Given the description of an element on the screen output the (x, y) to click on. 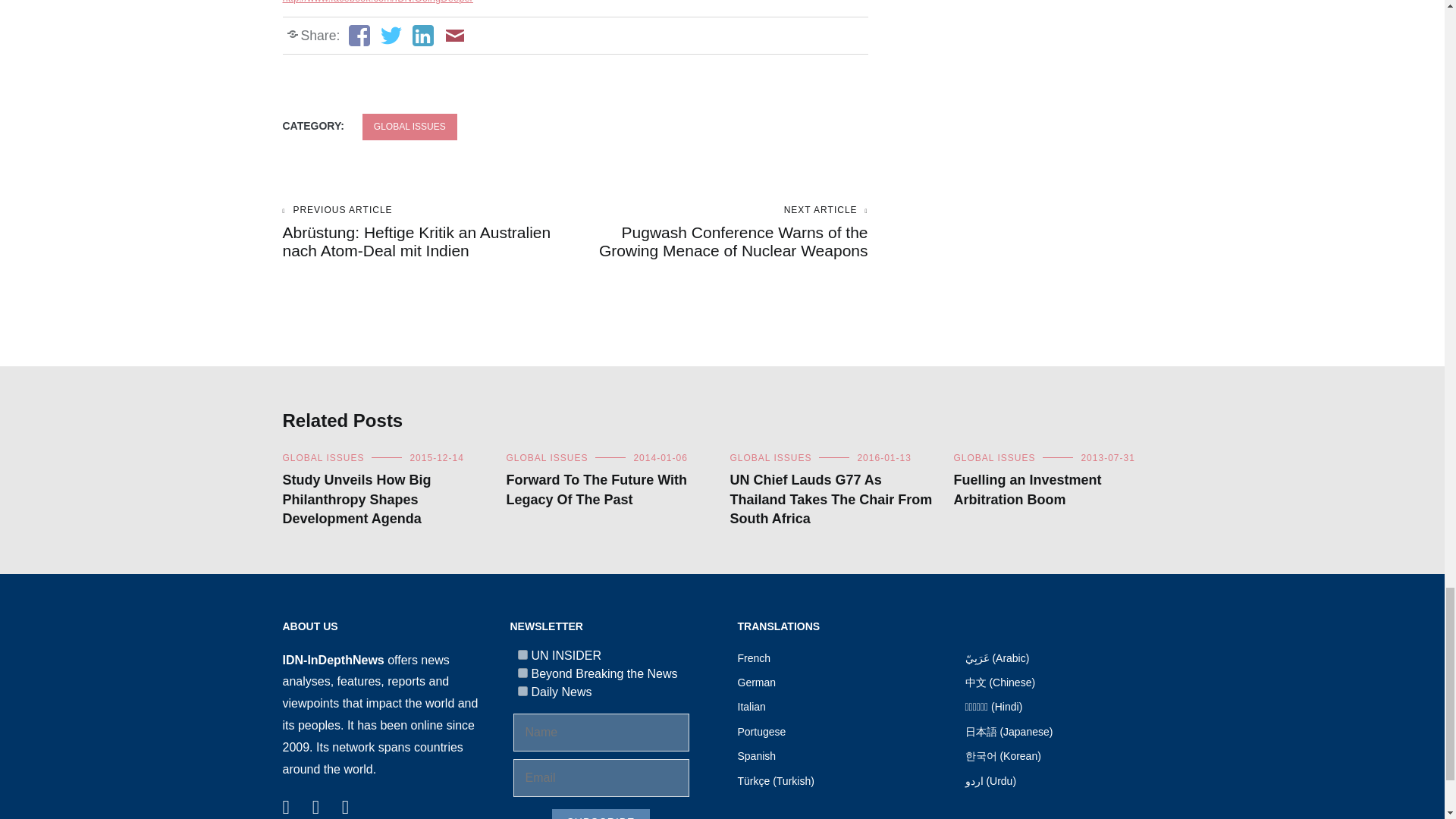
7 (521, 655)
9 (521, 673)
10 (521, 691)
